Given the description of an element on the screen output the (x, y) to click on. 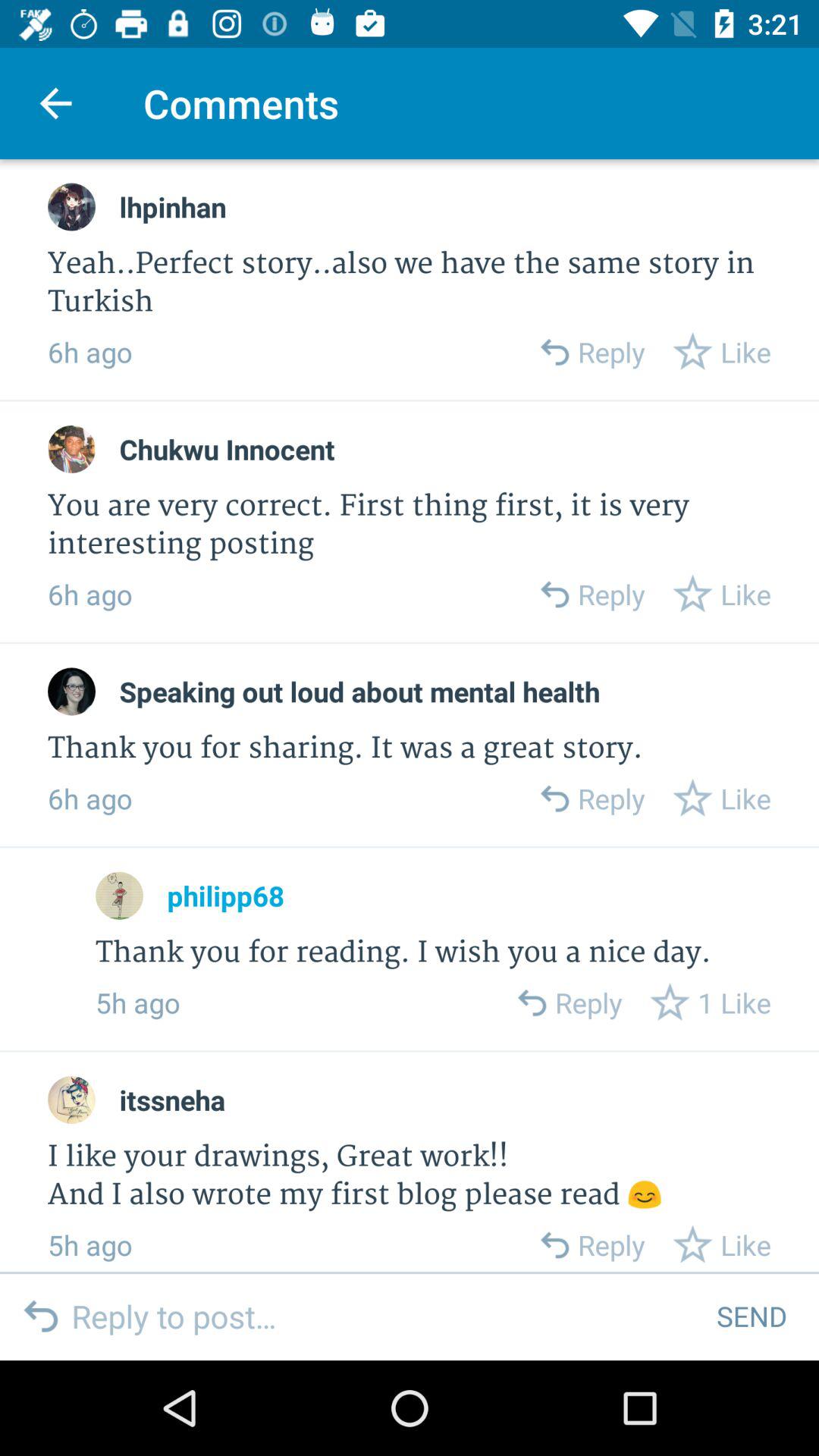
reply to this comment (531, 1002)
